Given the description of an element on the screen output the (x, y) to click on. 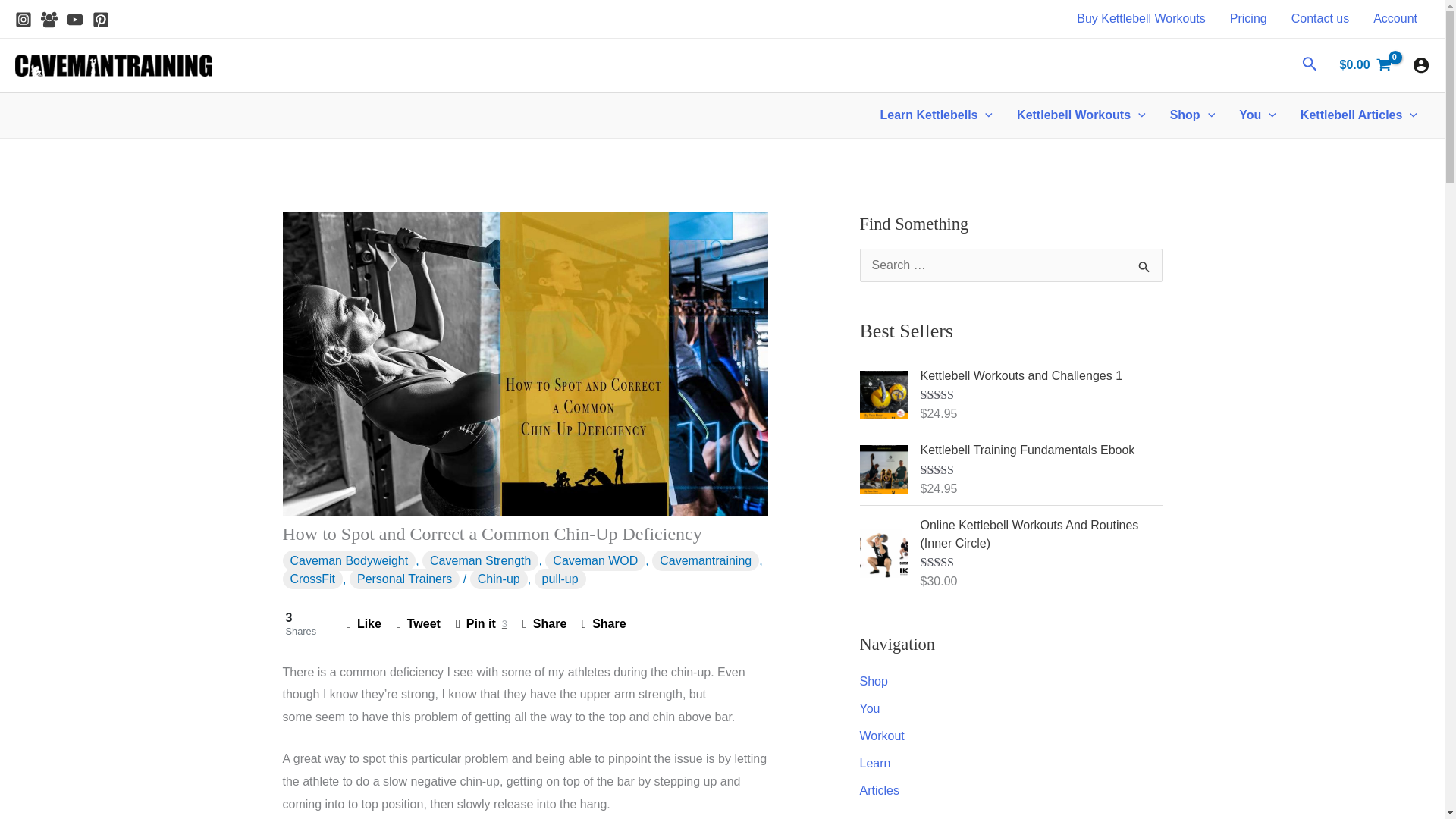
Contact us (1320, 18)
Buy Kettlebell Workouts (1140, 18)
Search (1144, 269)
Pricing (1248, 18)
Account (1395, 18)
Learn Kettlebells (936, 115)
Search (1144, 269)
